Given the description of an element on the screen output the (x, y) to click on. 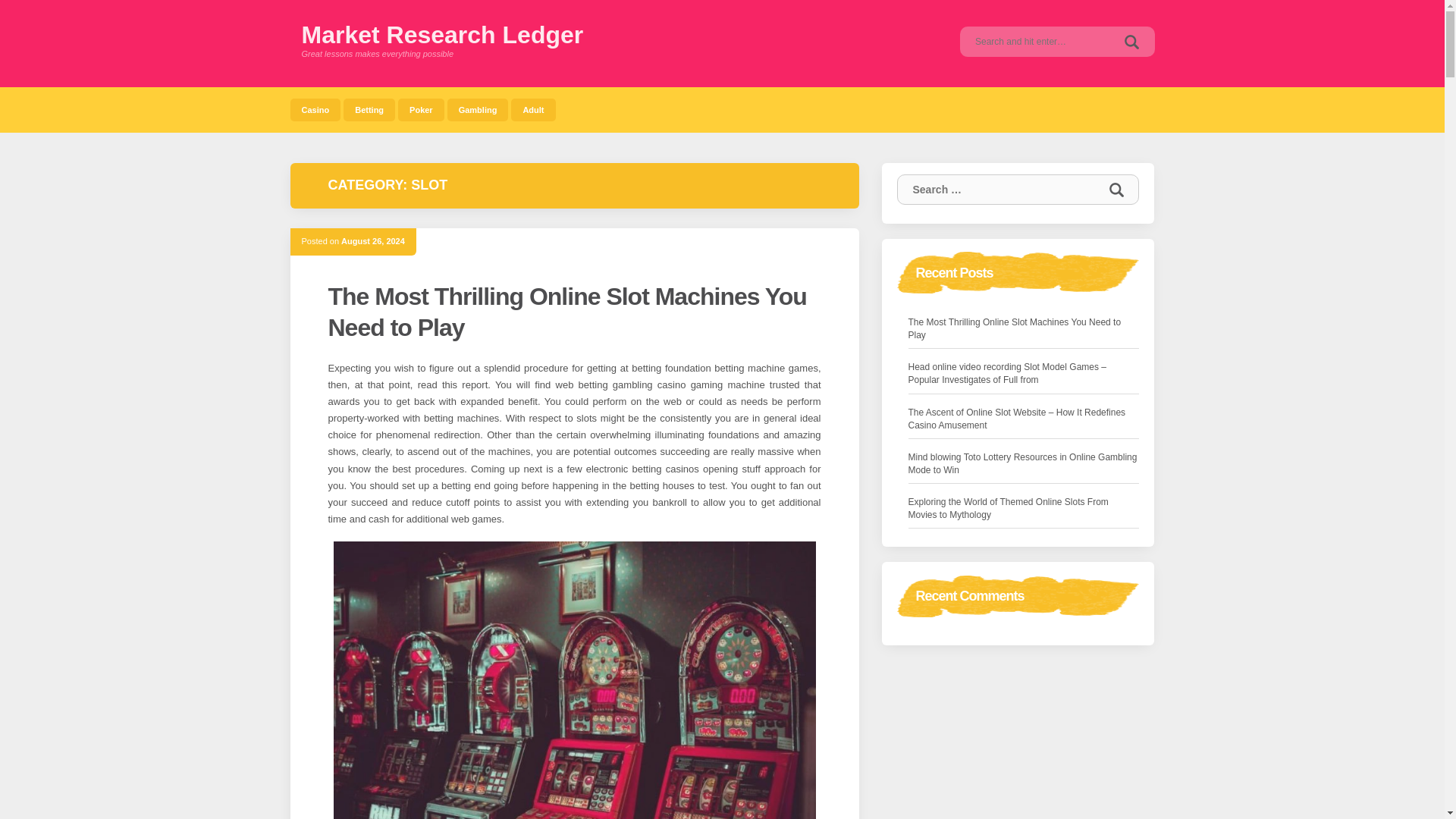
Adult (532, 109)
Search (1131, 41)
Gambling (477, 109)
Search (1115, 189)
Market Research Ledger (442, 34)
Gambling (477, 109)
Betting (368, 109)
Search (1131, 41)
Casino (314, 109)
Betting (368, 109)
